Given the description of an element on the screen output the (x, y) to click on. 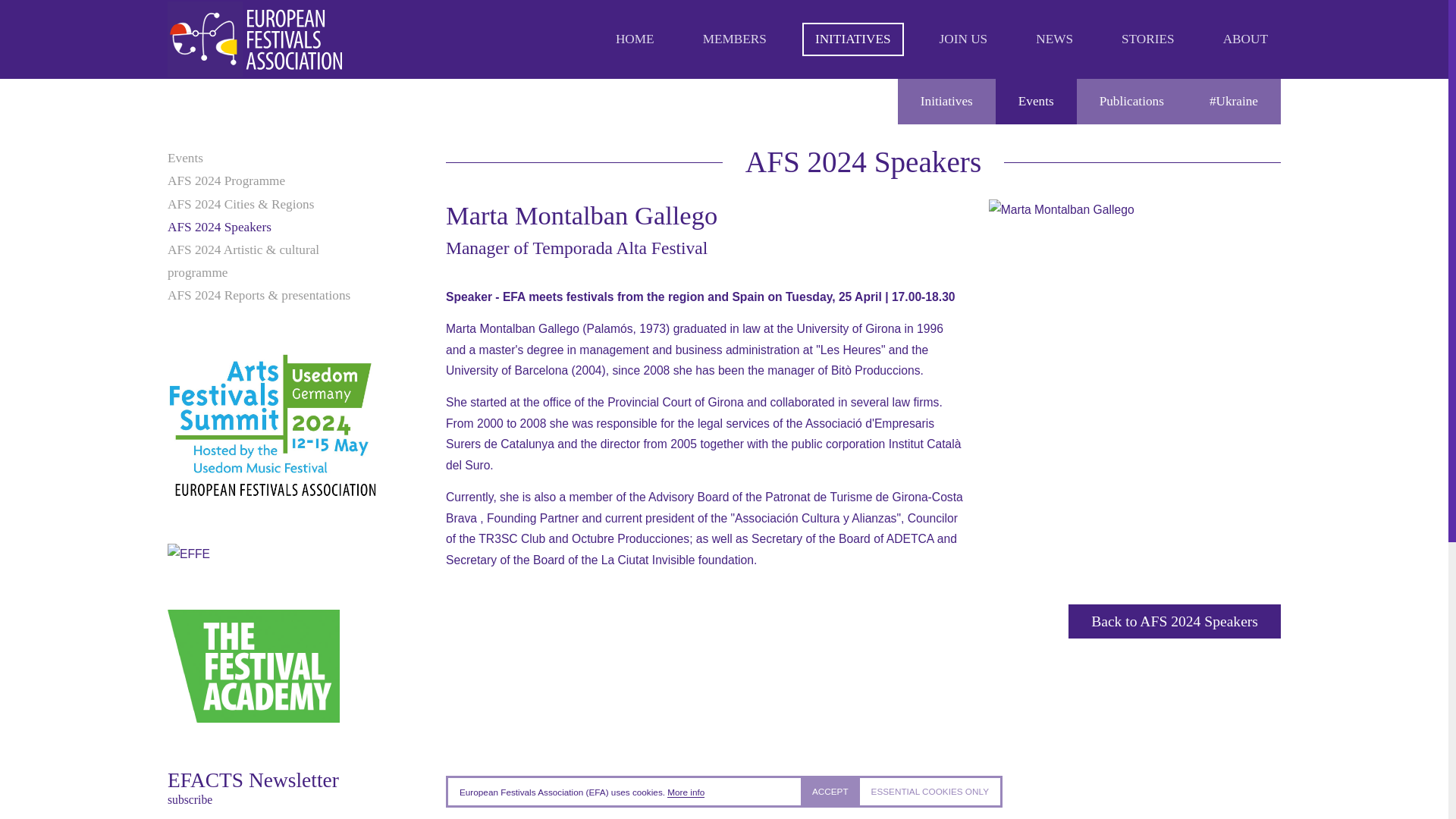
Events (1036, 101)
AFS 2024 Programme (272, 180)
More info (685, 792)
ESSENTIAL COOKIES ONLY (930, 791)
NEWS (1054, 39)
Home (634, 39)
European festivals Association (254, 38)
Events (1036, 101)
AFS 2024 Speakers (272, 227)
Back to AFS 2024 Speakers (1174, 621)
STORIES (1148, 39)
Events (272, 158)
Initiatives (946, 101)
News (1054, 39)
Initiatives (946, 101)
